Given the description of an element on the screen output the (x, y) to click on. 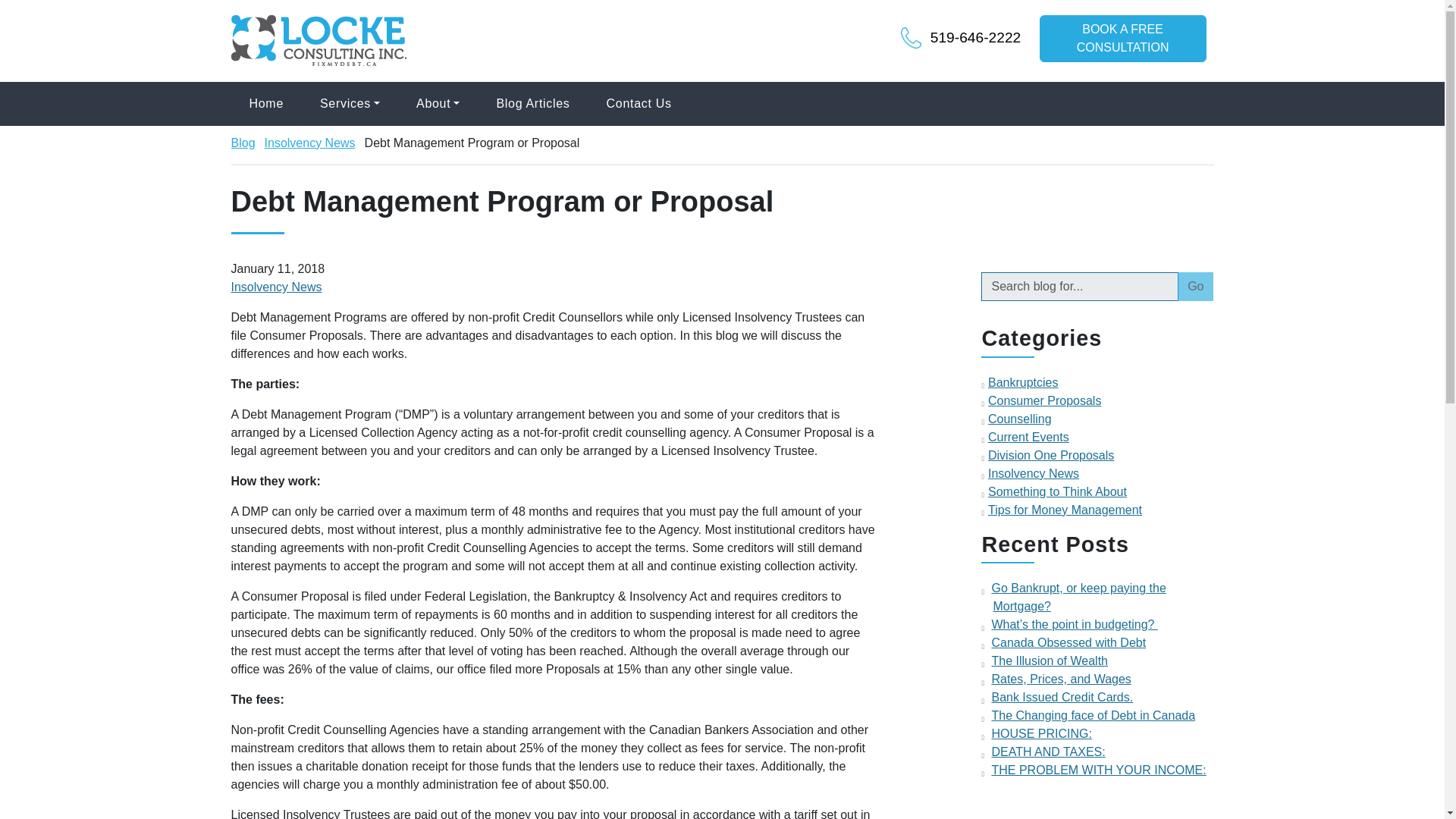
Home (265, 103)
Tips for Money Management (1064, 509)
Something to Think About (1057, 491)
Insolvency News (1033, 472)
Go (1194, 286)
The Illusion of Wealth (1049, 660)
DEATH AND TAXES: (1048, 751)
Insolvency News (309, 142)
HOUSE PRICING: (1123, 38)
